Given the description of an element on the screen output the (x, y) to click on. 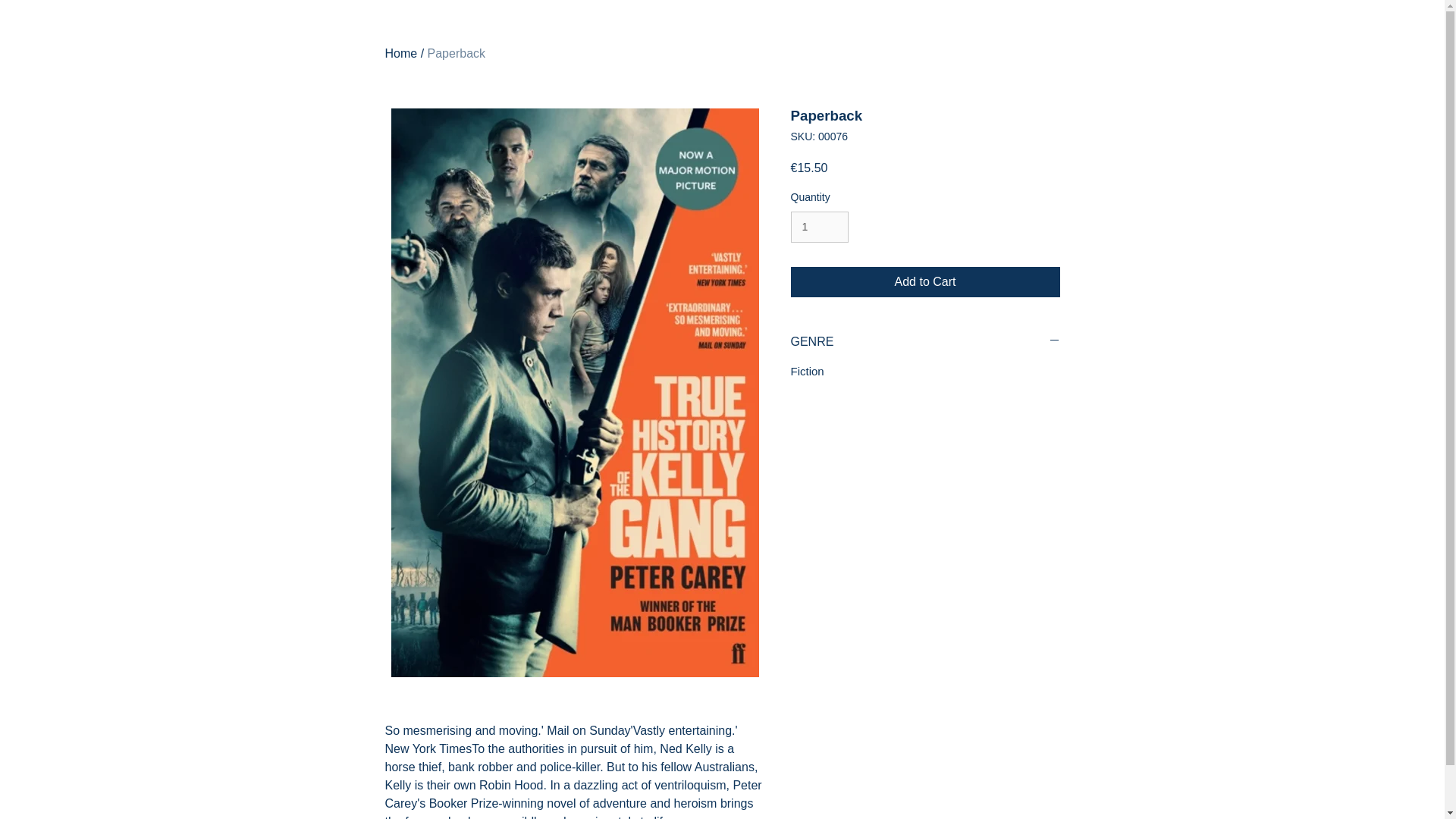
GENRE (924, 341)
Paperback (457, 52)
Add to Cart (924, 281)
1 (818, 226)
Home (401, 52)
